Given the description of an element on the screen output the (x, y) to click on. 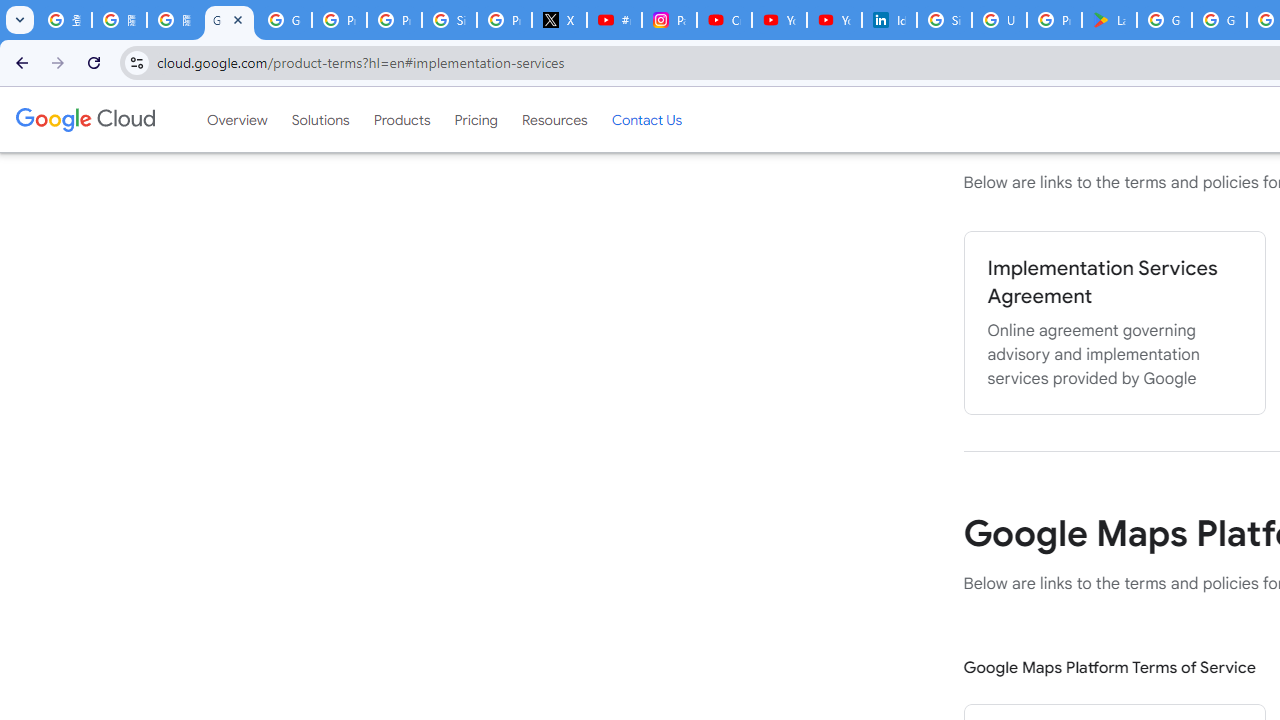
Google Cloud (84, 119)
Sign in - Google Accounts (943, 20)
Resources (553, 119)
Google Workspace - Specific Terms (1218, 20)
Privacy Help Center - Policies Help (394, 20)
Contact Us (646, 119)
